Given the description of an element on the screen output the (x, y) to click on. 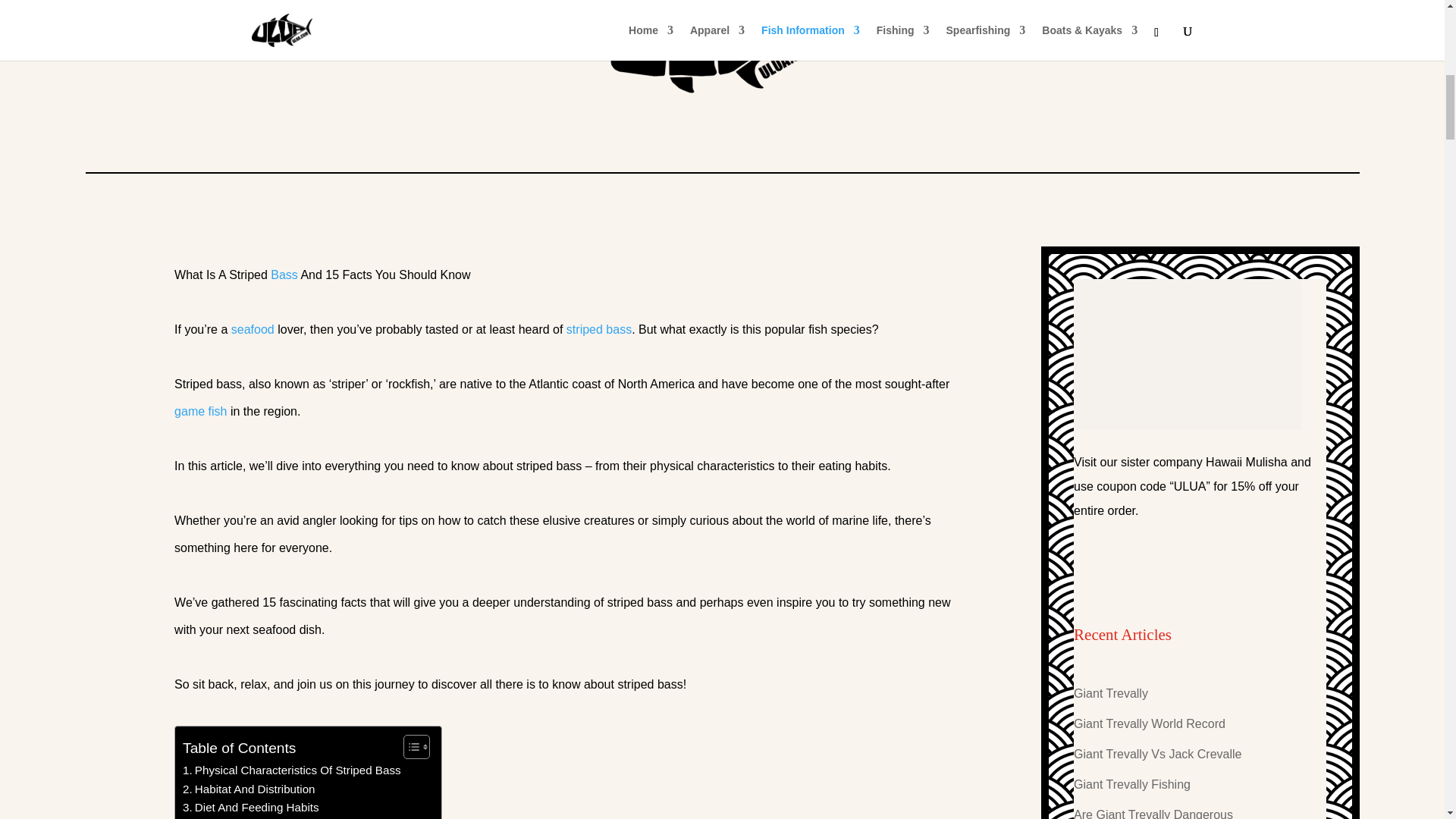
Life Cycle And Reproduction (261, 817)
Habitat And Distribution (248, 789)
Diet And Feeding Habits (250, 807)
Physical Characteristics Of Striped Bass (292, 770)
cropped-ulua-512x512-1-1.png (721, 73)
